Given the description of an element on the screen output the (x, y) to click on. 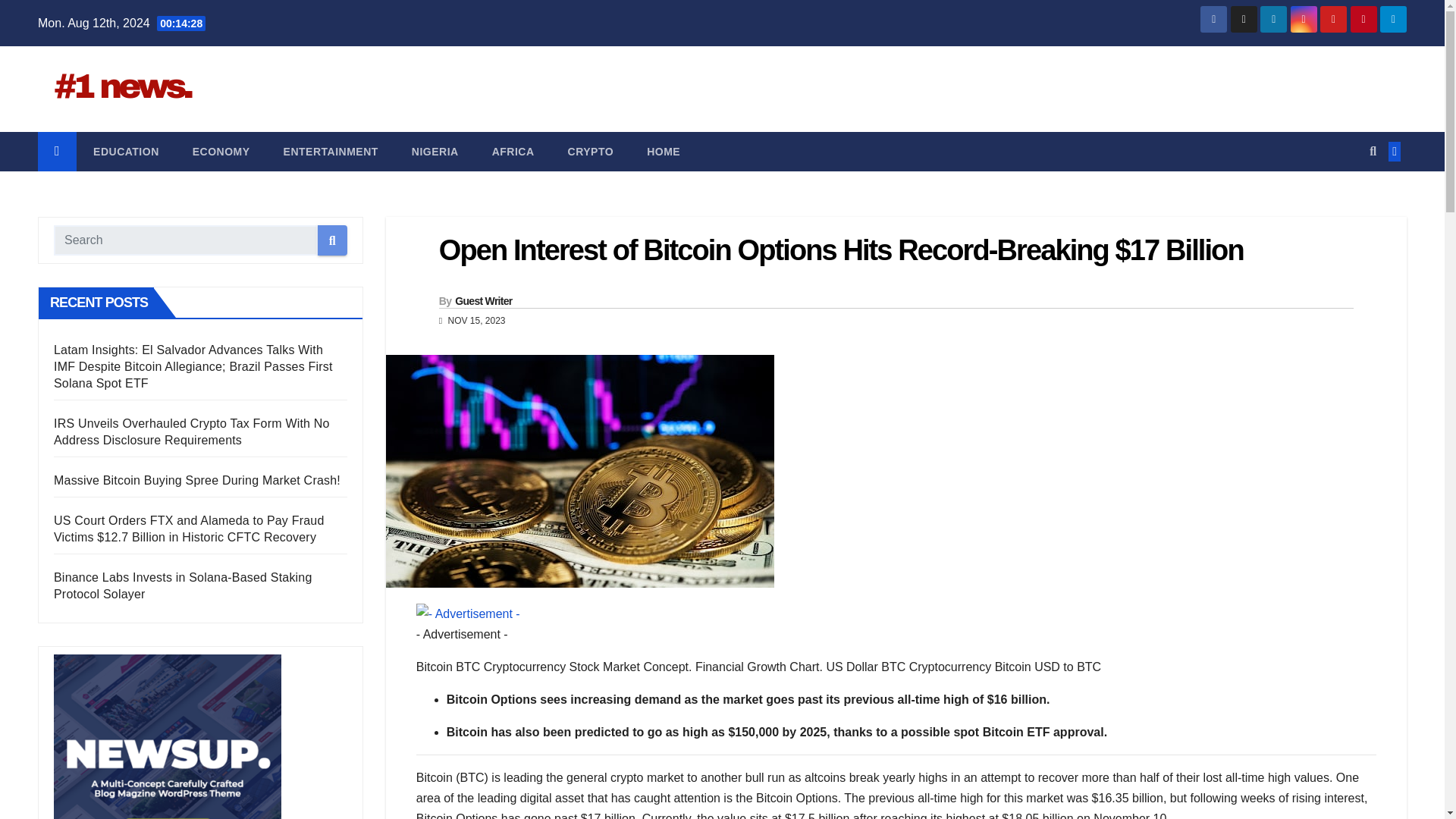
Economy (221, 151)
NIGERIA (435, 151)
Crypto (590, 151)
ECONOMY (221, 151)
CRYPTO (590, 151)
Entertainment (330, 151)
Nigeria (435, 151)
